Given the description of an element on the screen output the (x, y) to click on. 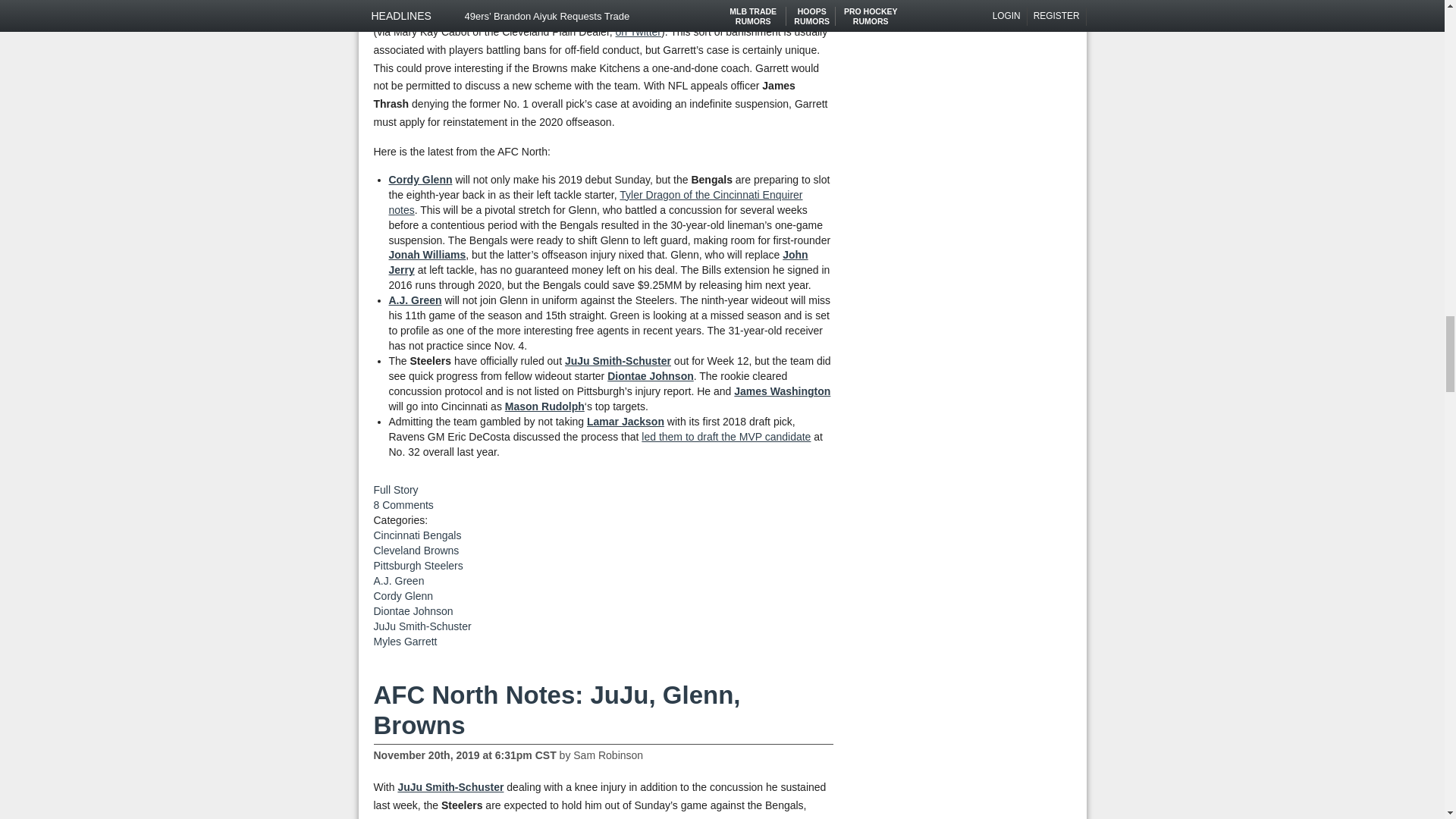
View all posts in Myles Garrett (404, 641)
View all posts in Cleveland Browns (415, 550)
View all posts in A.J. Green (397, 580)
View all posts in Cordy Glenn (402, 595)
View all posts in JuJu Smith-Schuster (421, 625)
View all posts in Diontae Johnson (412, 611)
View all posts in Cincinnati Bengals (416, 535)
View all posts in Pittsburgh Steelers (417, 565)
